Given the description of an element on the screen output the (x, y) to click on. 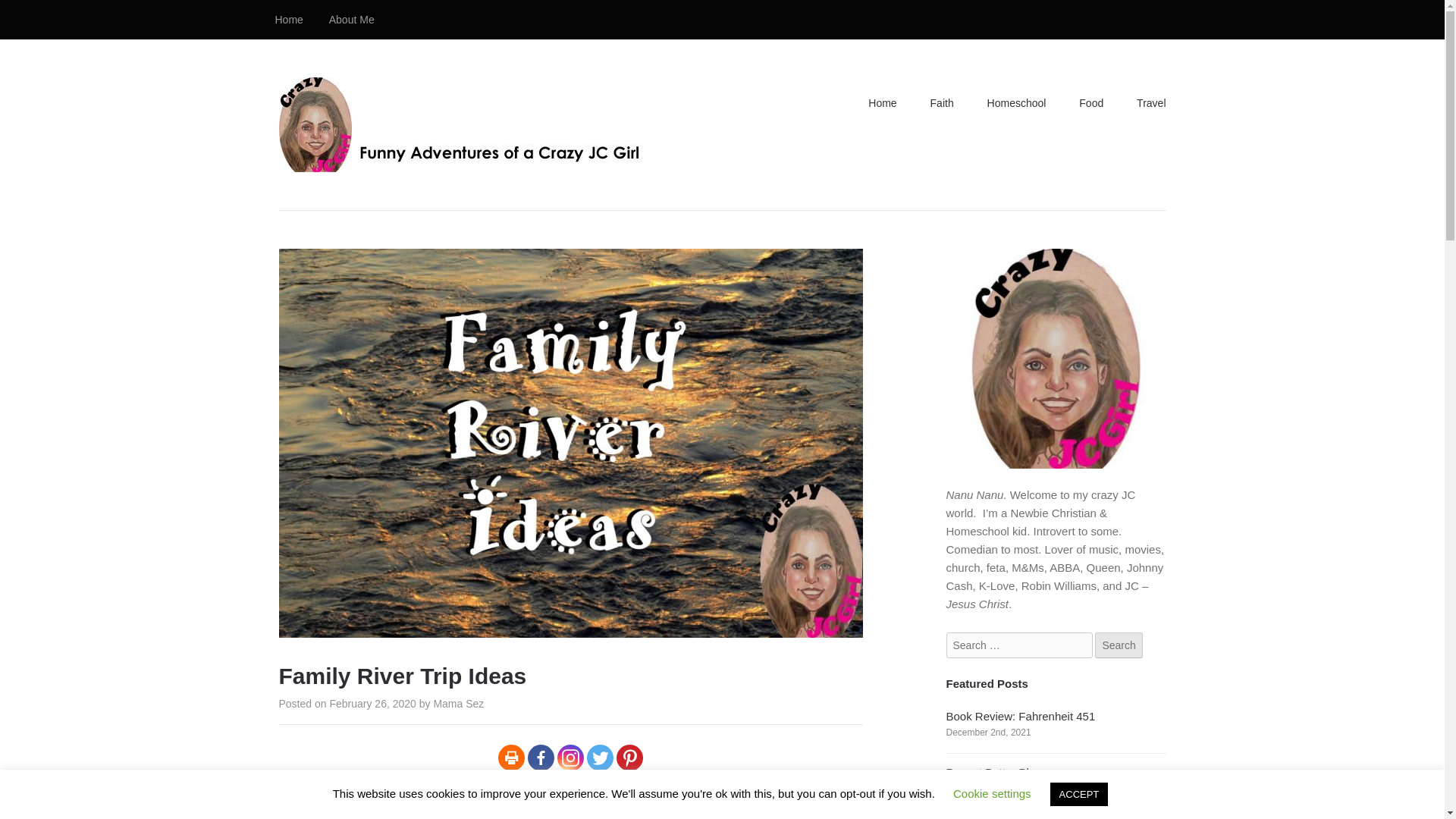
Twitter (599, 757)
Home (882, 102)
Search (1117, 645)
Book Review (506, 802)
Homeschool (1016, 102)
About Me (351, 19)
Family River Trip Ideas (571, 627)
Print (510, 757)
Pinterest (629, 757)
Faith (942, 102)
Travel (1150, 102)
Food (1091, 102)
Home (288, 19)
Mama Sez (457, 703)
February 26, 2020 (371, 703)
